Given the description of an element on the screen output the (x, y) to click on. 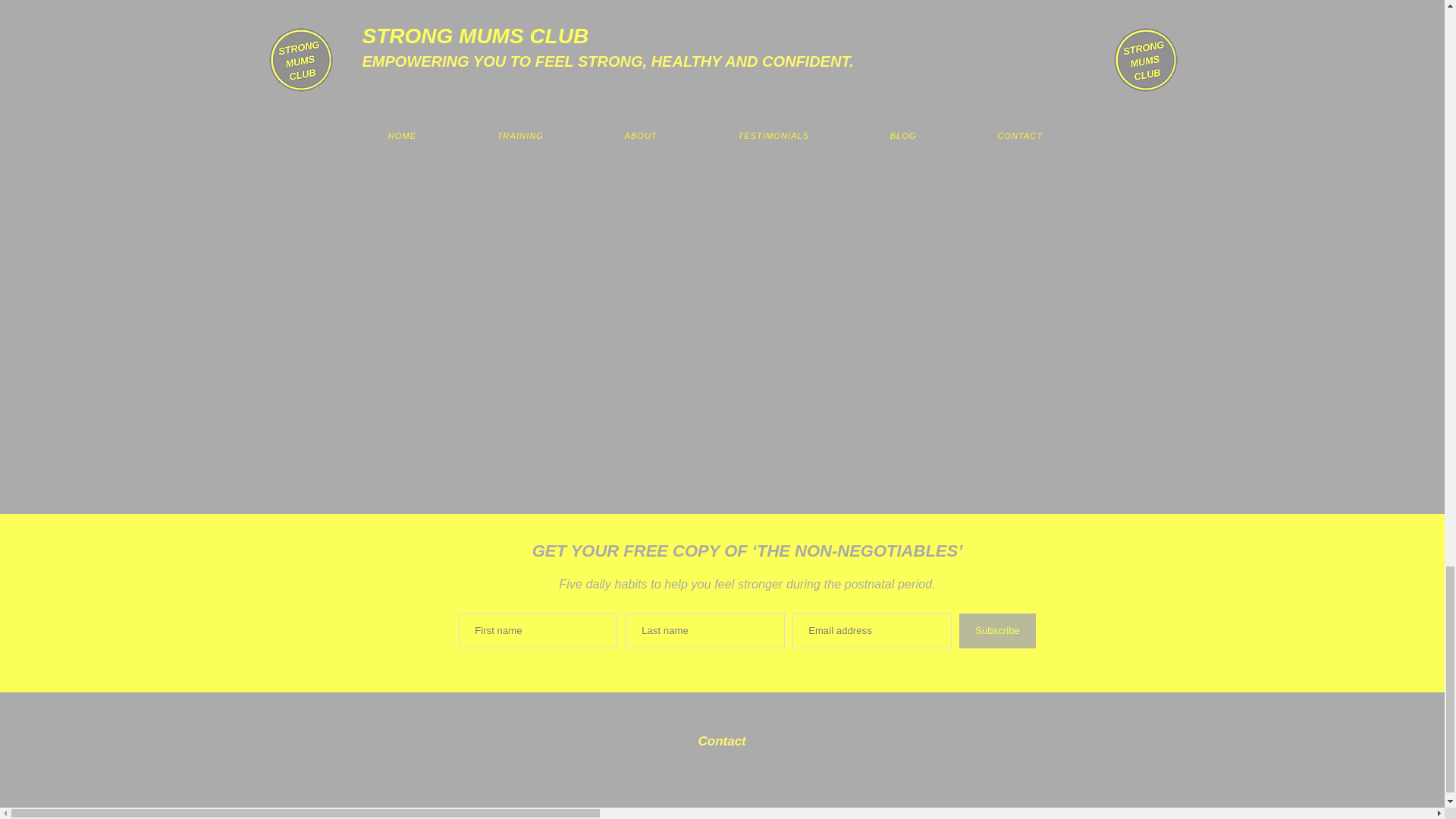
Contact  (721, 747)
